Given the description of an element on the screen output the (x, y) to click on. 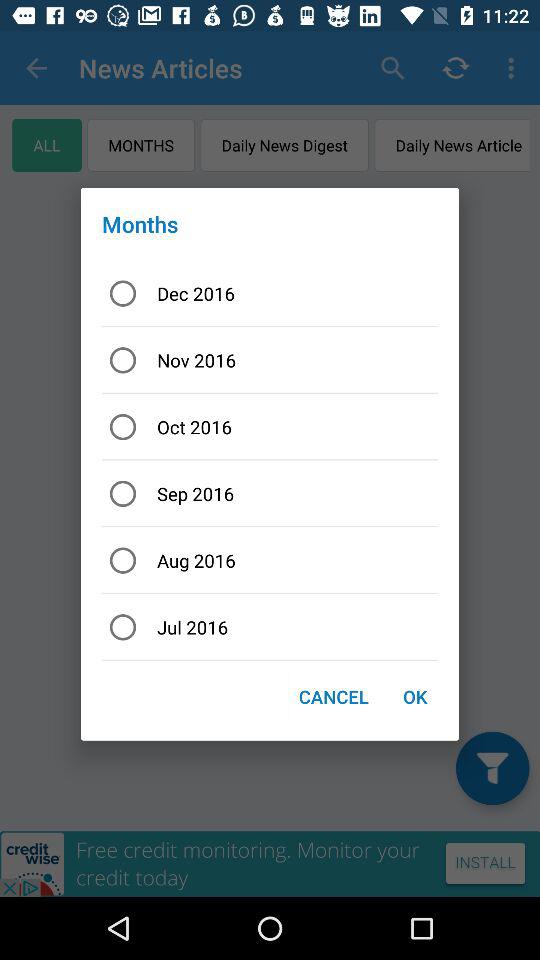
flip to the aug 2016 item (269, 560)
